Given the description of an element on the screen output the (x, y) to click on. 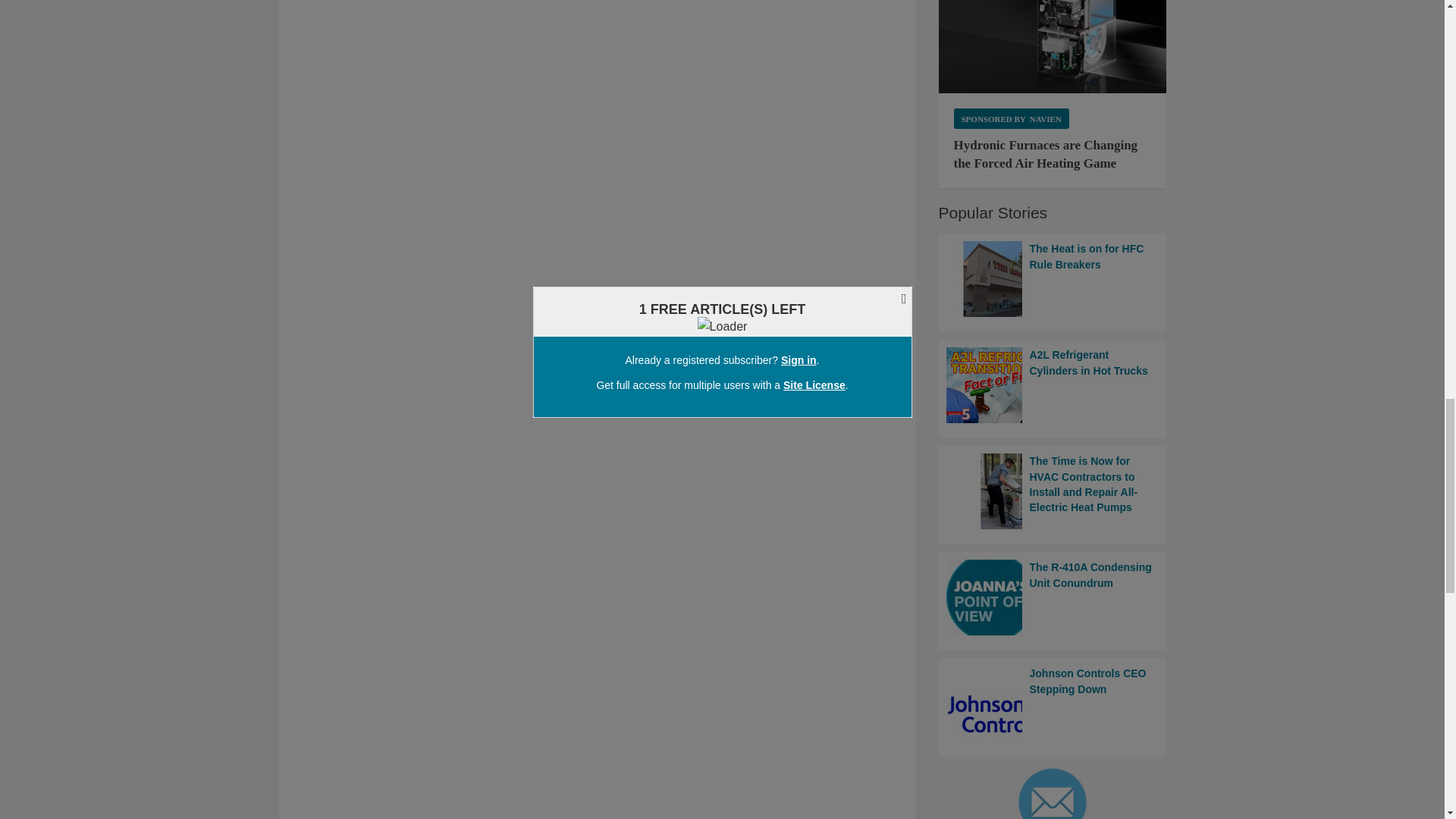
Sponsored by Navien (1010, 118)
Hydronic Forced Air Furnace Diagram (1052, 46)
The R-410A Condensing Unit Conundrum (1052, 597)
A2L Refrigerant Cylinders in Hot Trucks (1052, 385)
The Heat is on for HFC Rule Breakers (1052, 278)
Johnson Controls CEO Stepping Down (1052, 703)
